Given the description of an element on the screen output the (x, y) to click on. 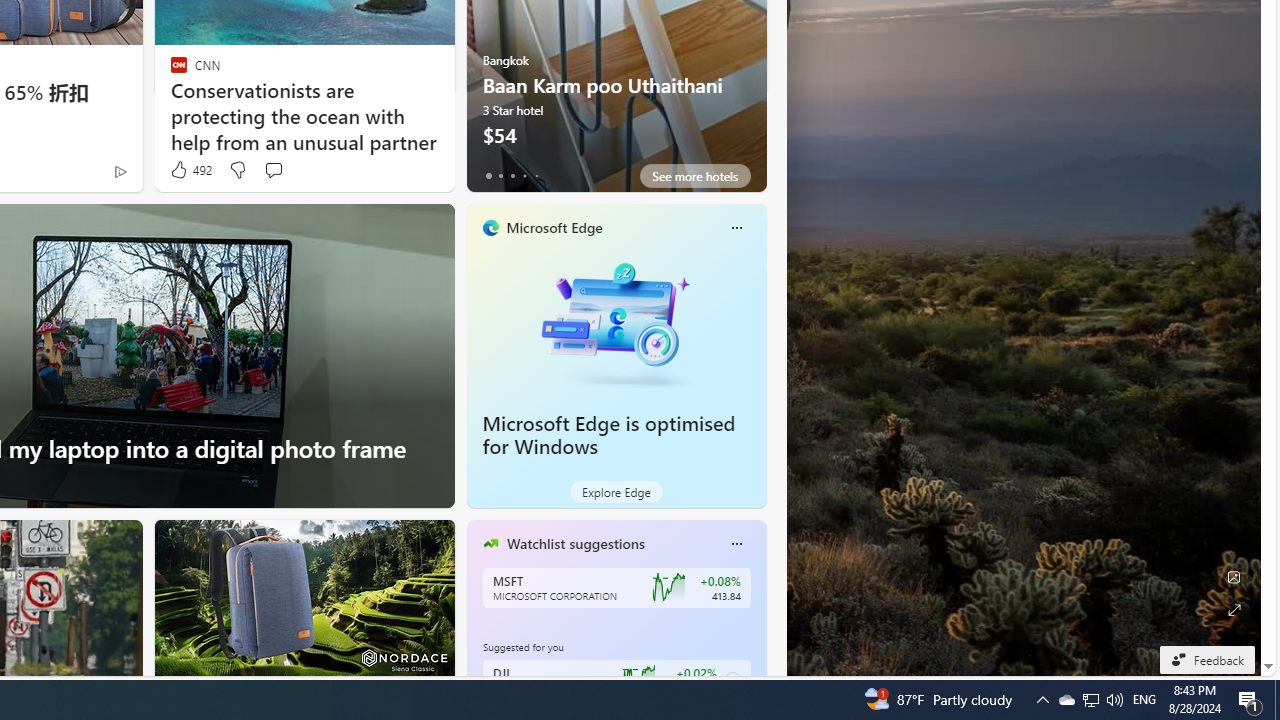
Microsoft Edge is optimised for Windows (609, 435)
tab-3 (524, 175)
Ad Choice (119, 171)
Dislike (237, 170)
Microsoft Edge is optimised for Windows (616, 321)
tab-0 (488, 175)
More options (736, 543)
tab-4 (535, 175)
Class: follow-button  m (732, 679)
Edit Background (1233, 577)
See more hotels (694, 175)
Feedback (1206, 659)
Expand background (1233, 610)
